Given the description of an element on the screen output the (x, y) to click on. 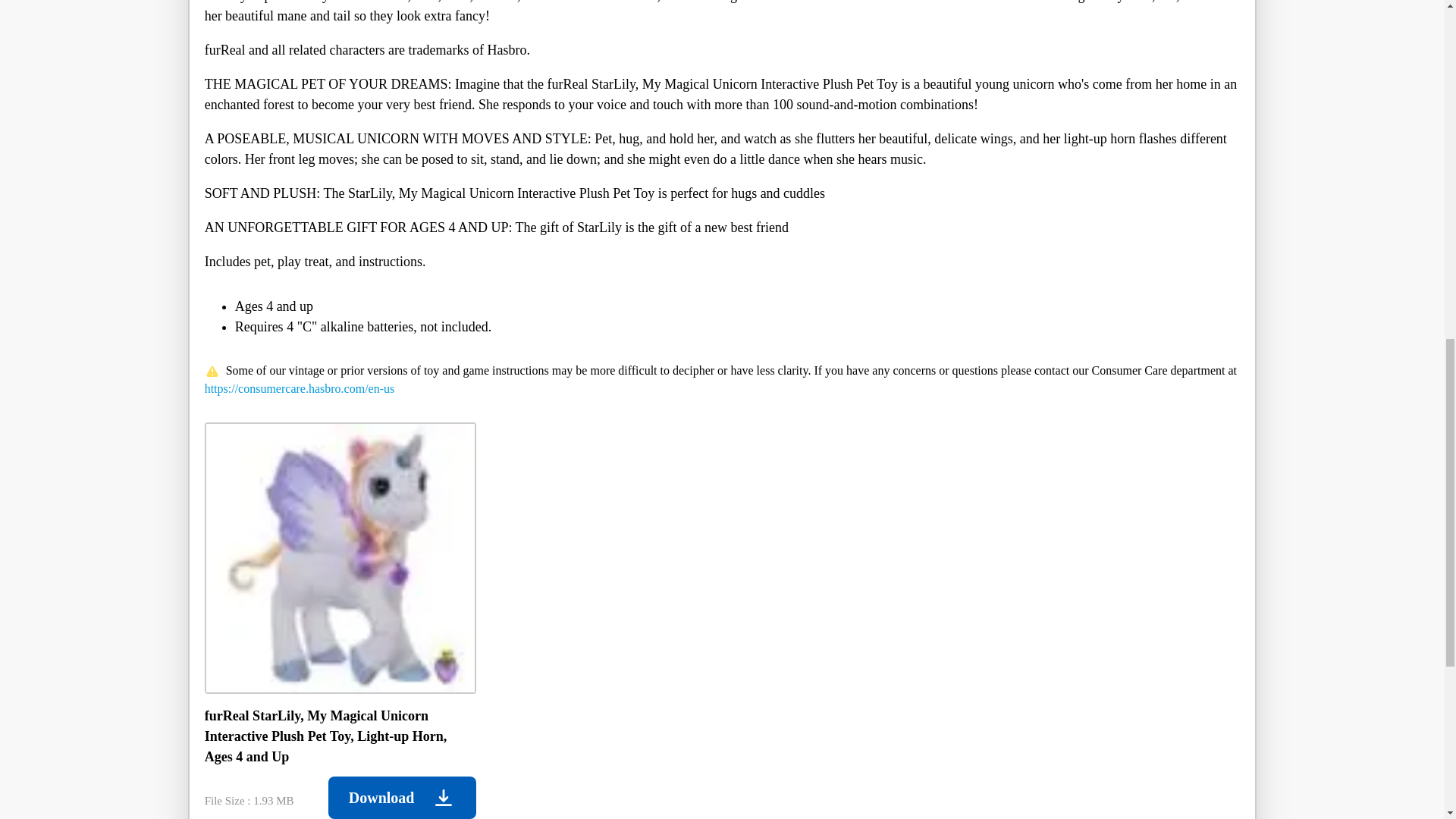
Download (402, 797)
